Given the description of an element on the screen output the (x, y) to click on. 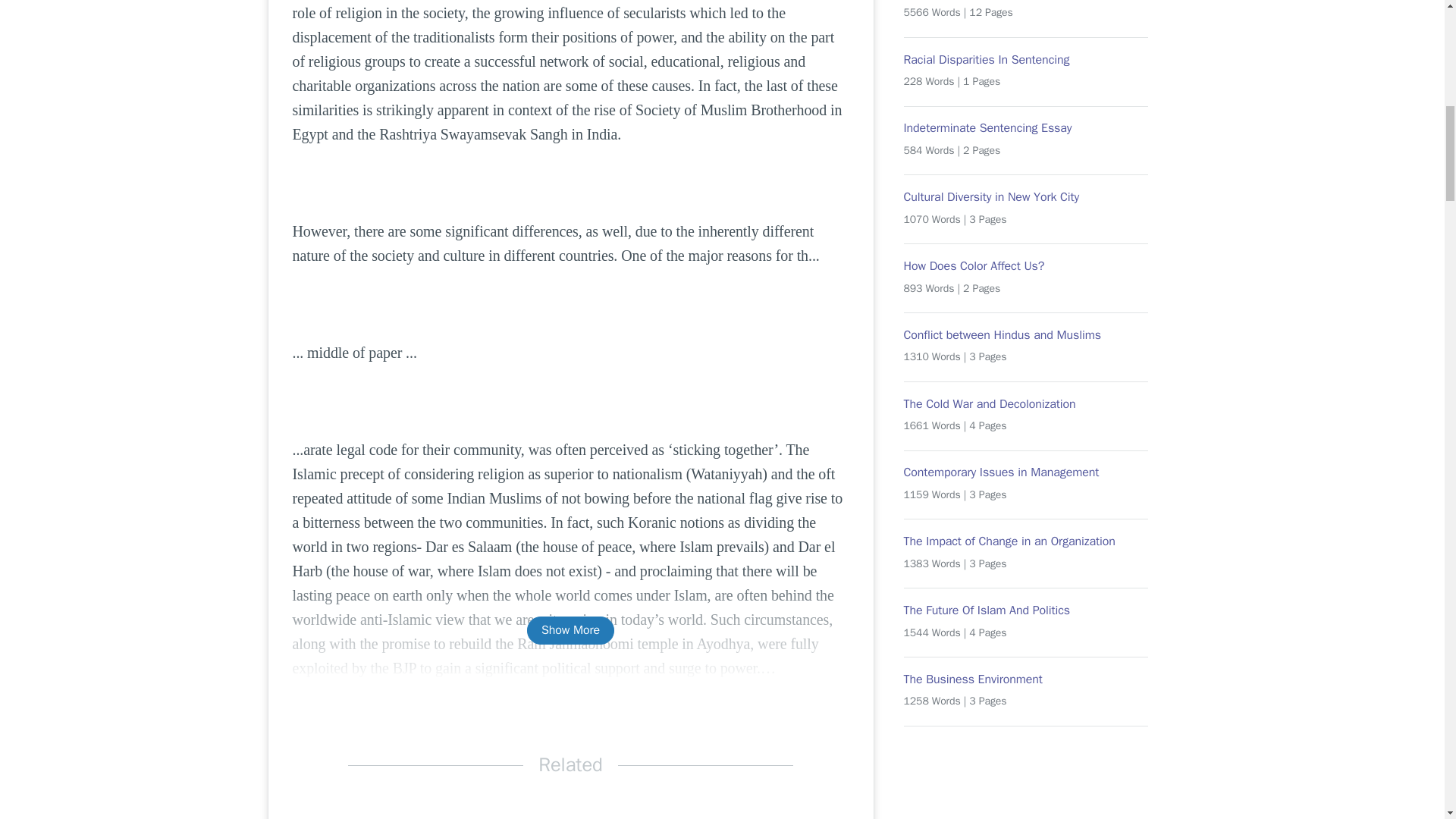
Show More (570, 630)
